Given the description of an element on the screen output the (x, y) to click on. 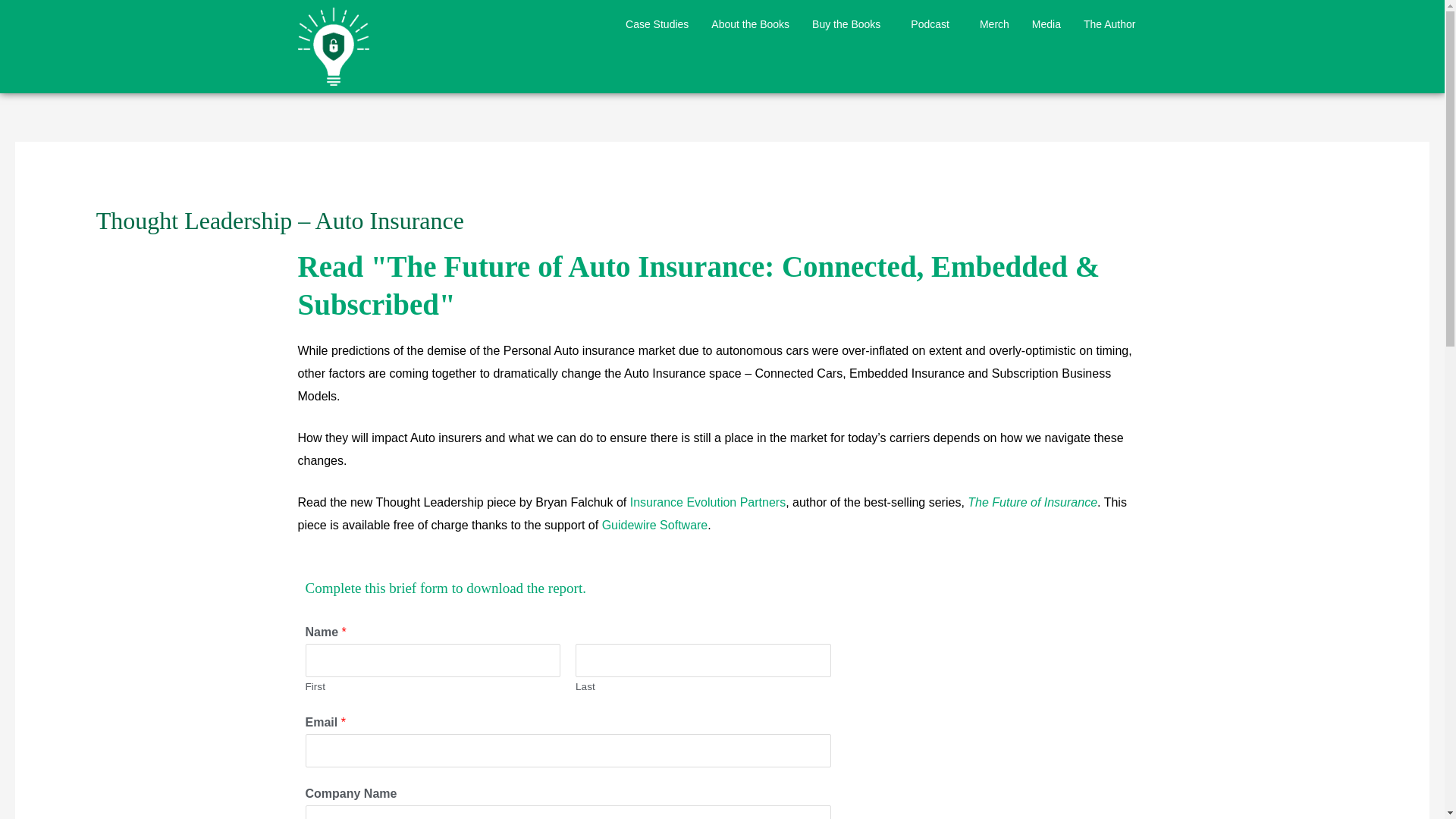
Guidewire Software (654, 524)
Merch (994, 23)
SafeBulbGreen (332, 46)
The Author (1109, 23)
Insurance Evolution Partners (708, 502)
About the Books (750, 23)
Media (1045, 23)
Buy the Books (849, 23)
The Future of Insurance (1032, 502)
Podcast (933, 23)
Case Studies (657, 23)
